Given the description of an element on the screen output the (x, y) to click on. 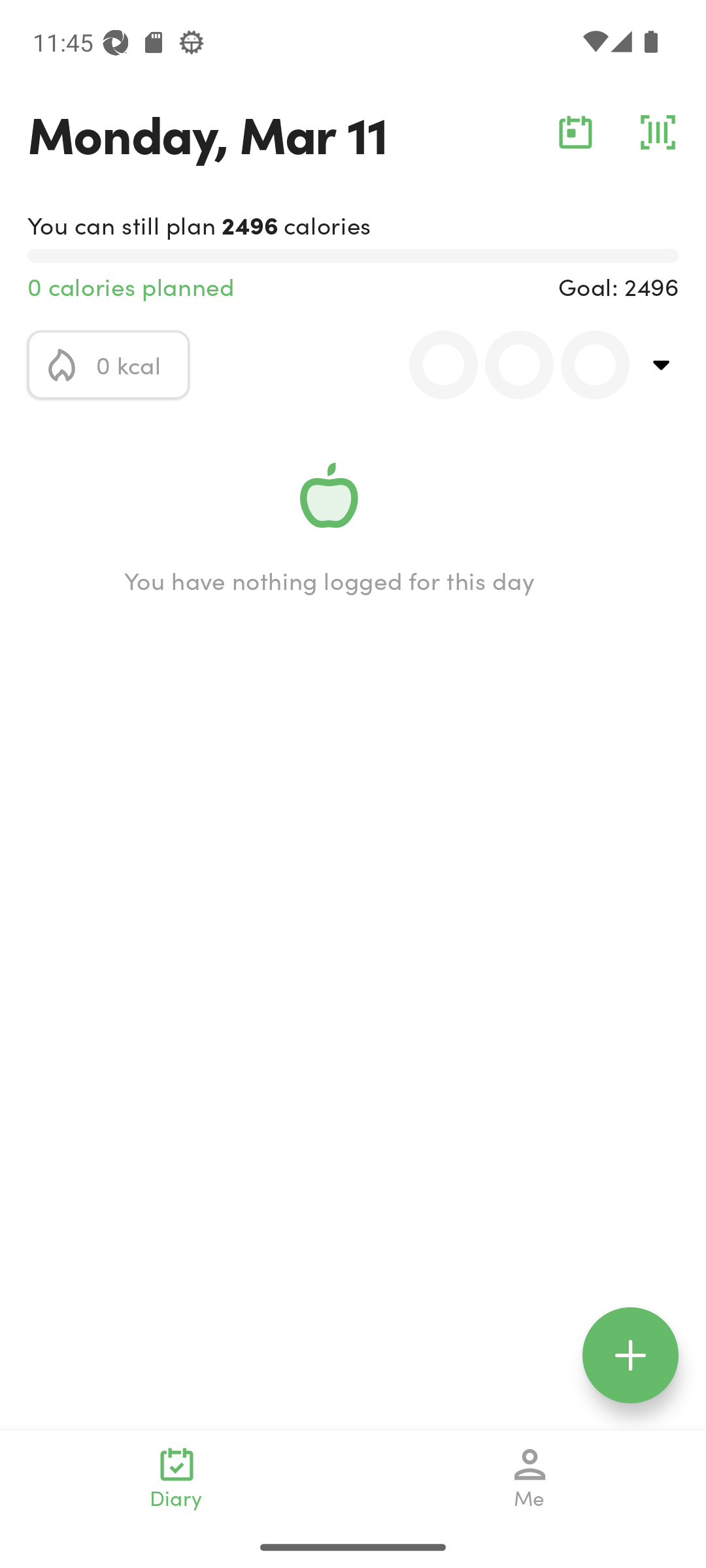
calendar_action (575, 132)
barcode_action (658, 132)
calorie_icon 0 kcal (108, 365)
0.0 0.0 0.0 (508, 365)
top_right_action (661, 365)
floating_action_icon (630, 1355)
Me navigation_icon (529, 1478)
